Given the description of an element on the screen output the (x, y) to click on. 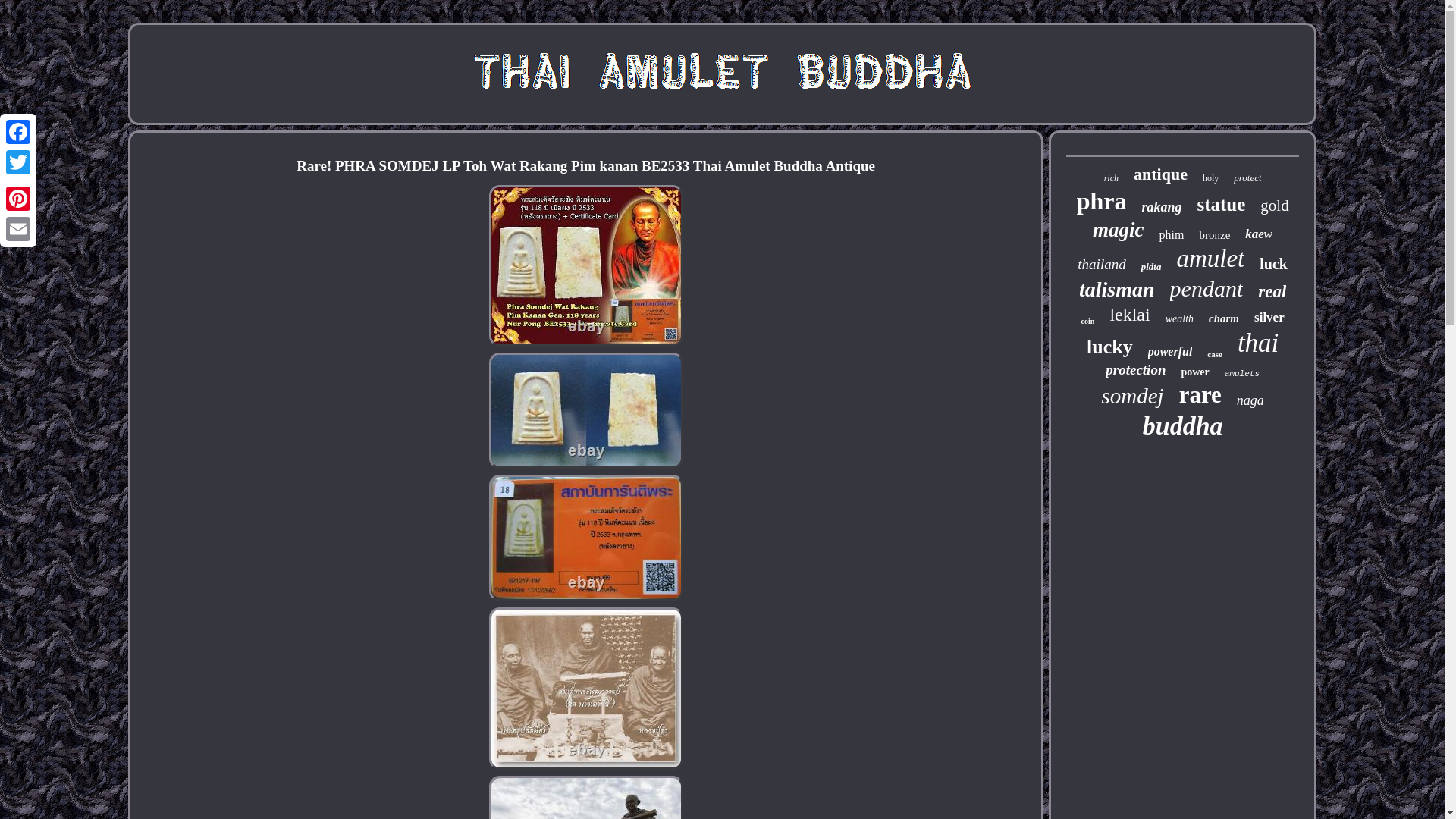
silver (1268, 317)
Pinterest (17, 198)
rakang (1160, 207)
antique (1161, 174)
Facebook (17, 132)
rich (1110, 178)
charm (1223, 318)
